Given the description of an element on the screen output the (x, y) to click on. 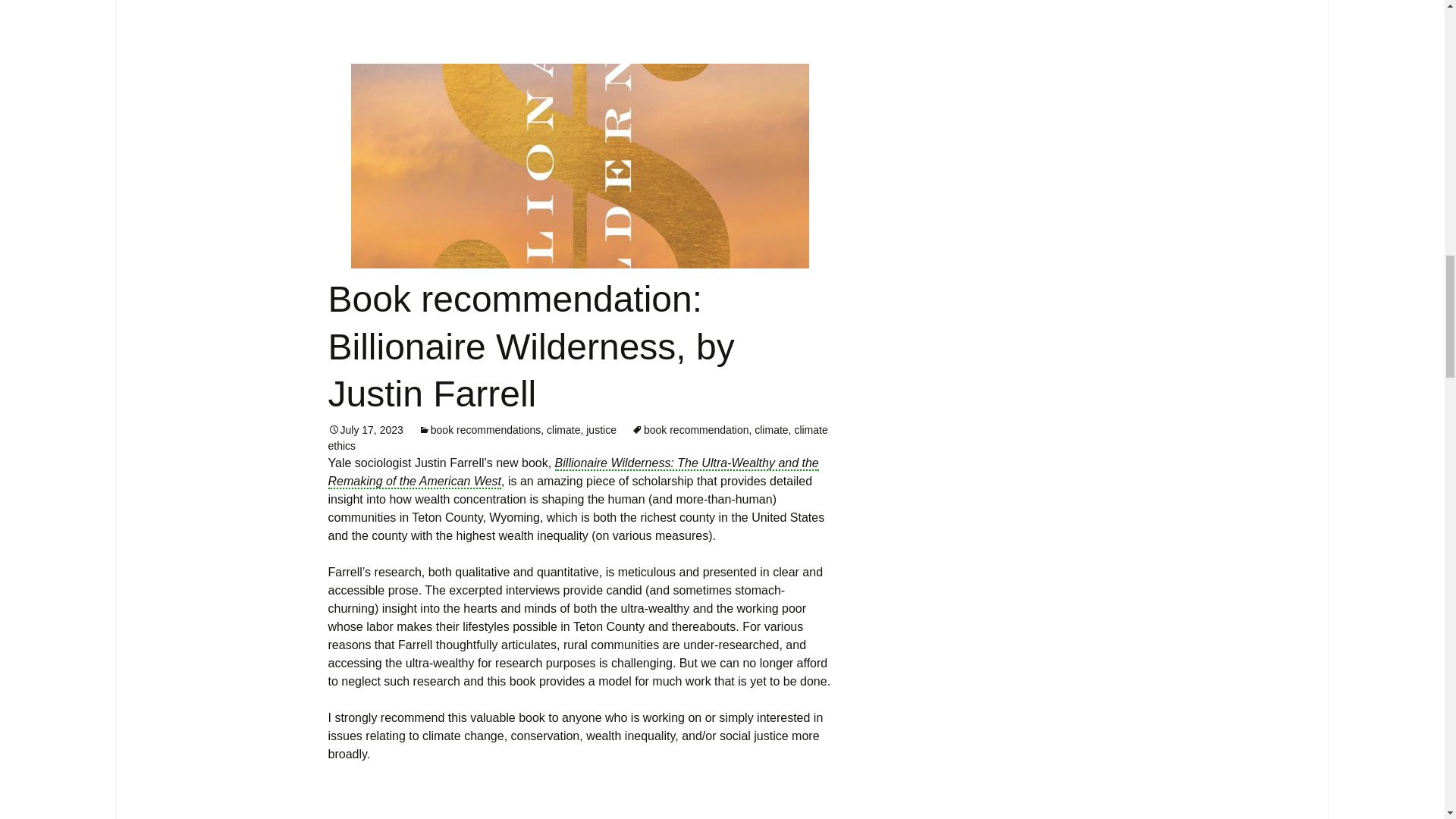
book recommendations (480, 429)
justice (600, 429)
climate ethics (577, 438)
climate (563, 429)
July 17, 2023 (365, 429)
climate (770, 429)
book recommendation (690, 429)
